Given the description of an element on the screen output the (x, y) to click on. 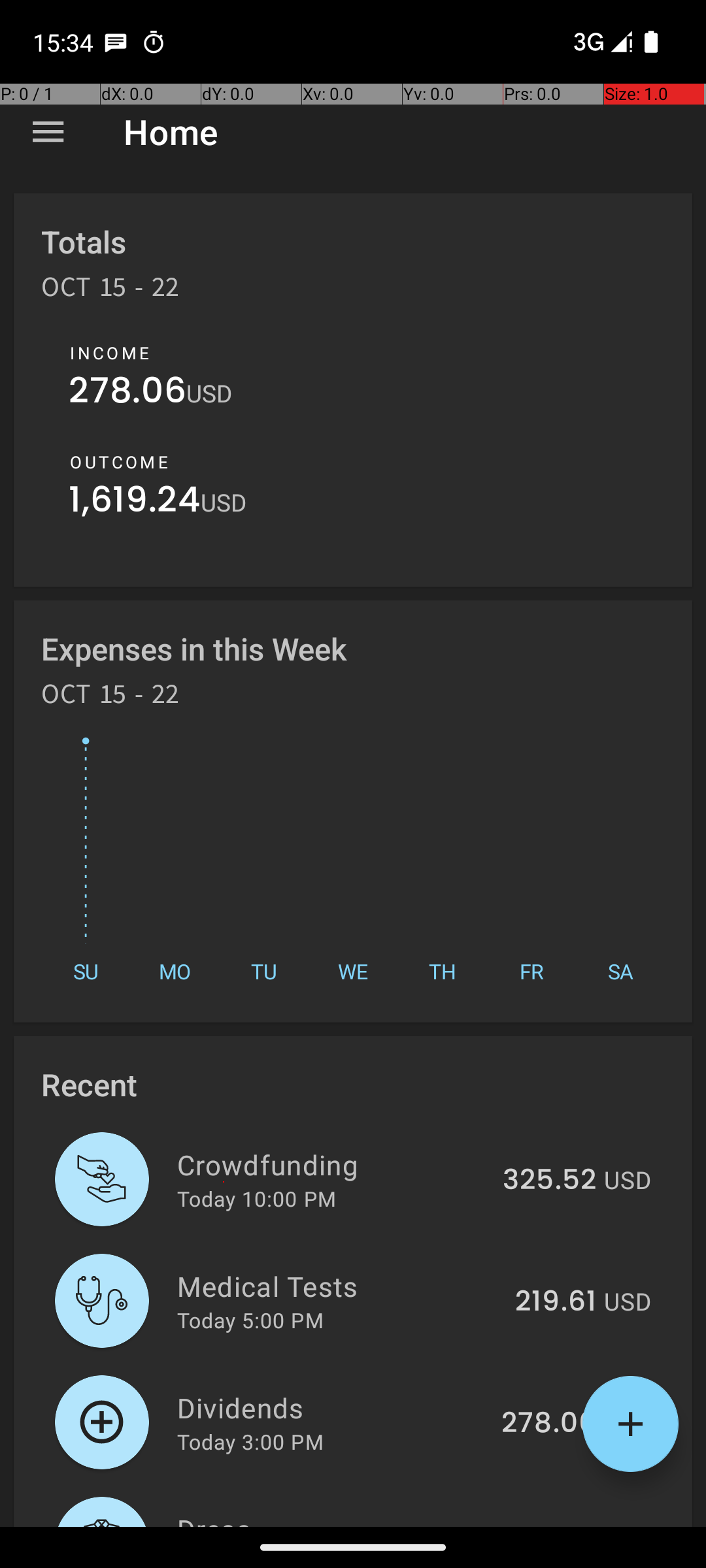
278.06 Element type: android.widget.TextView (127, 393)
1,619.24 Element type: android.widget.TextView (134, 502)
Crowdfunding Element type: android.widget.TextView (332, 1164)
325.52 Element type: android.widget.TextView (549, 1180)
Medical Tests Element type: android.widget.TextView (338, 1285)
219.61 Element type: android.widget.TextView (555, 1301)
Dividends Element type: android.widget.TextView (331, 1407)
Dress Element type: android.widget.TextView (330, 1518)
487.85 Element type: android.widget.TextView (547, 1524)
